Given the description of an element on the screen output the (x, y) to click on. 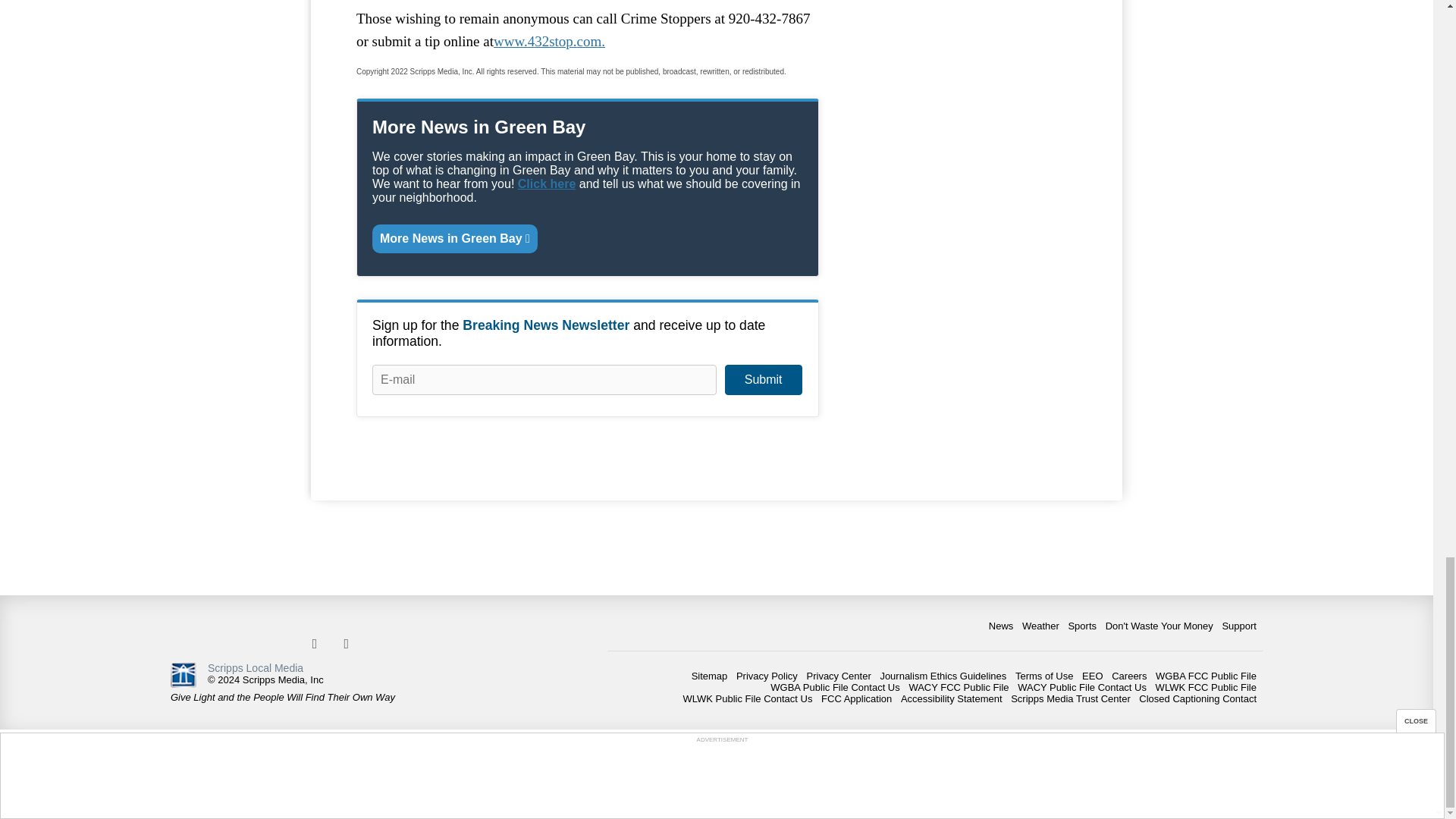
Submit (763, 379)
